Given the description of an element on the screen output the (x, y) to click on. 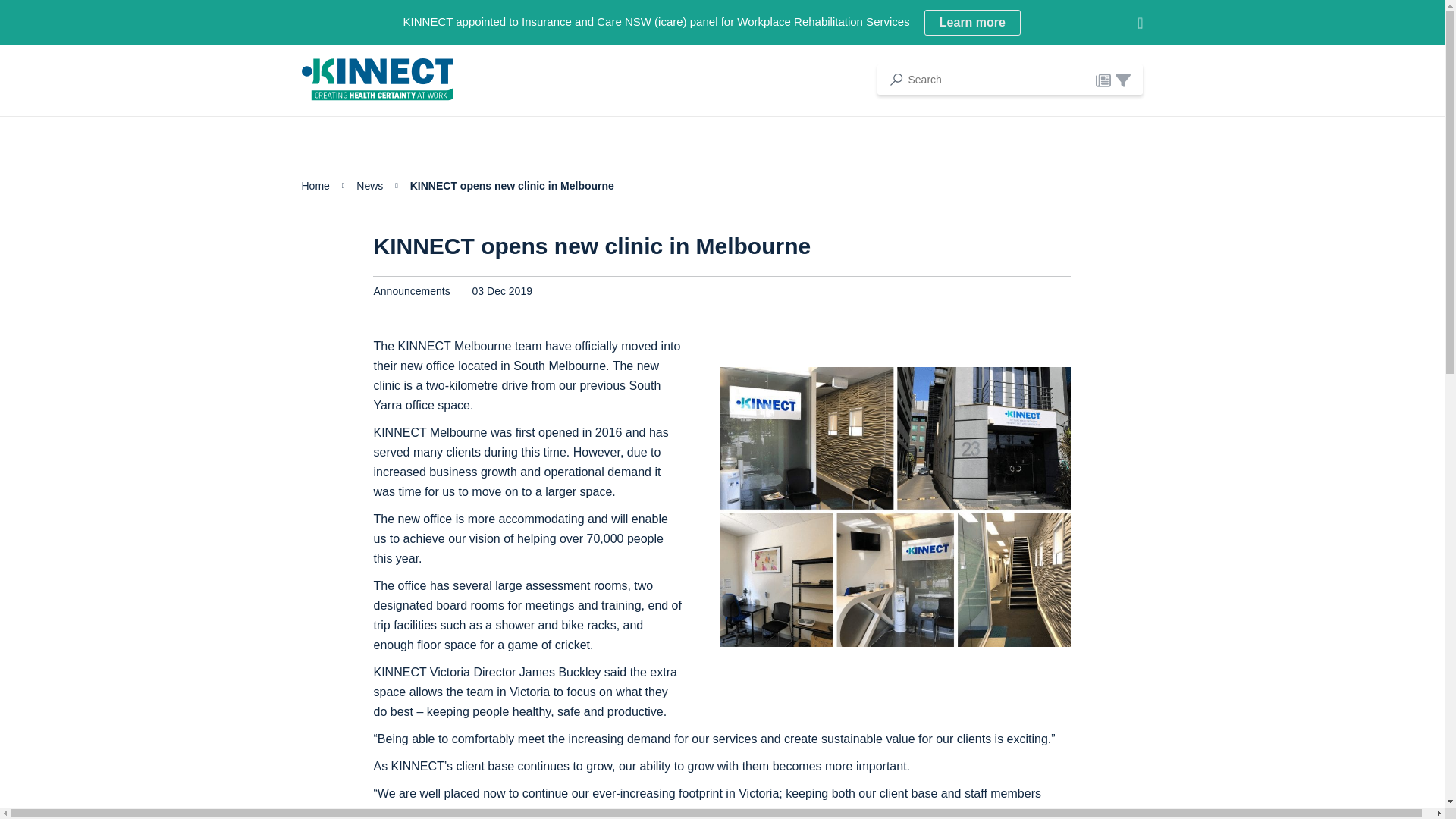
KINNECT (376, 79)
service (1123, 80)
Learn more (376, 79)
post (972, 22)
KINNECT LOGO (1103, 80)
